Given the description of an element on the screen output the (x, y) to click on. 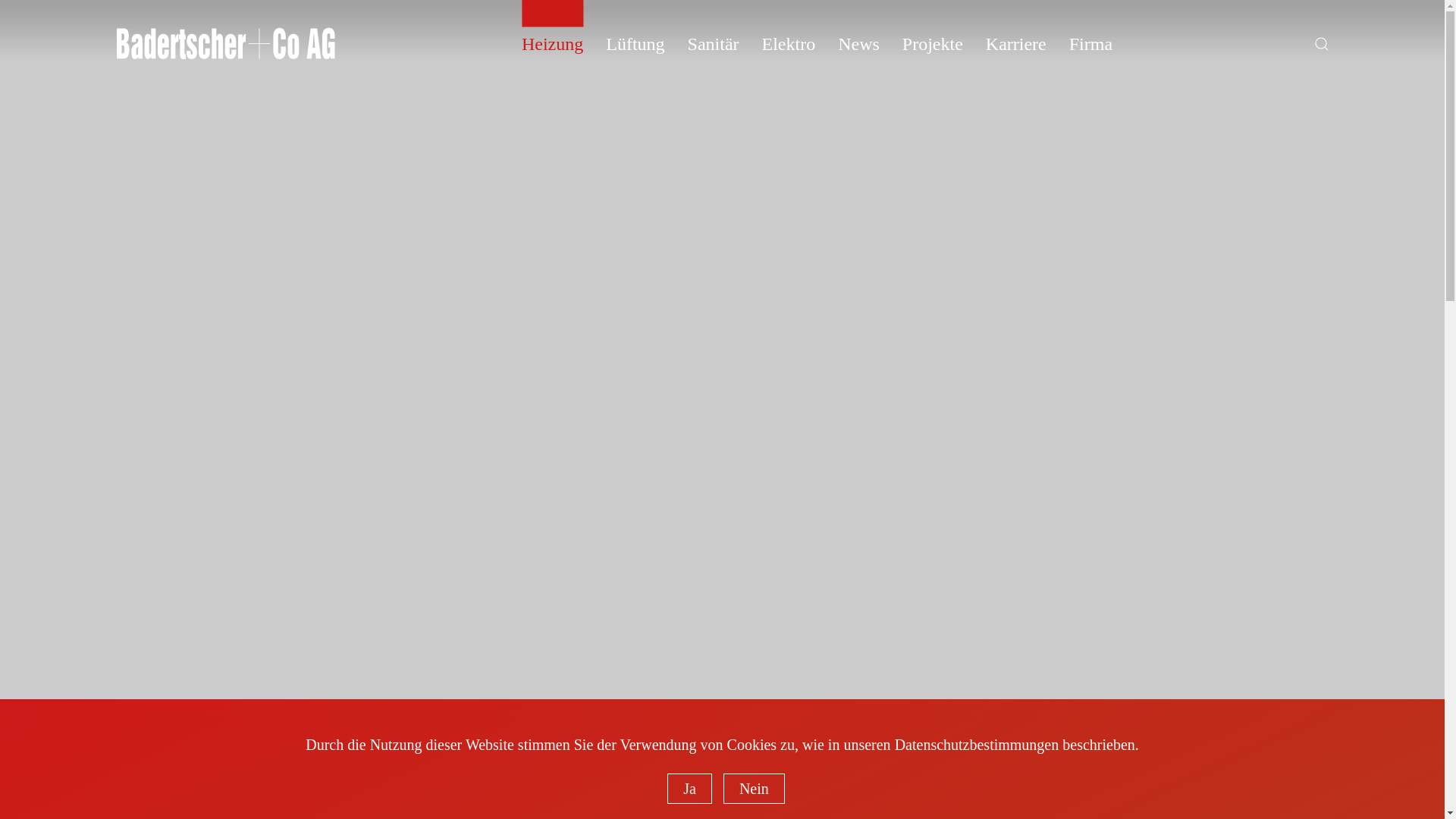
Weitere Informationen Element type: hover (1184, 752)
Datenschutzbestimmungen Element type: text (976, 744)
News Element type: text (858, 43)
Heizung Element type: text (552, 43)
Ja Element type: text (689, 788)
Firma Element type: text (1090, 43)
Elektro Element type: text (788, 43)
Nein Element type: text (753, 788)
Projekte Element type: text (932, 43)
Kontaktdaten Element type: hover (1222, 752)
Karriere Element type: text (1015, 43)
